Given the description of an element on the screen output the (x, y) to click on. 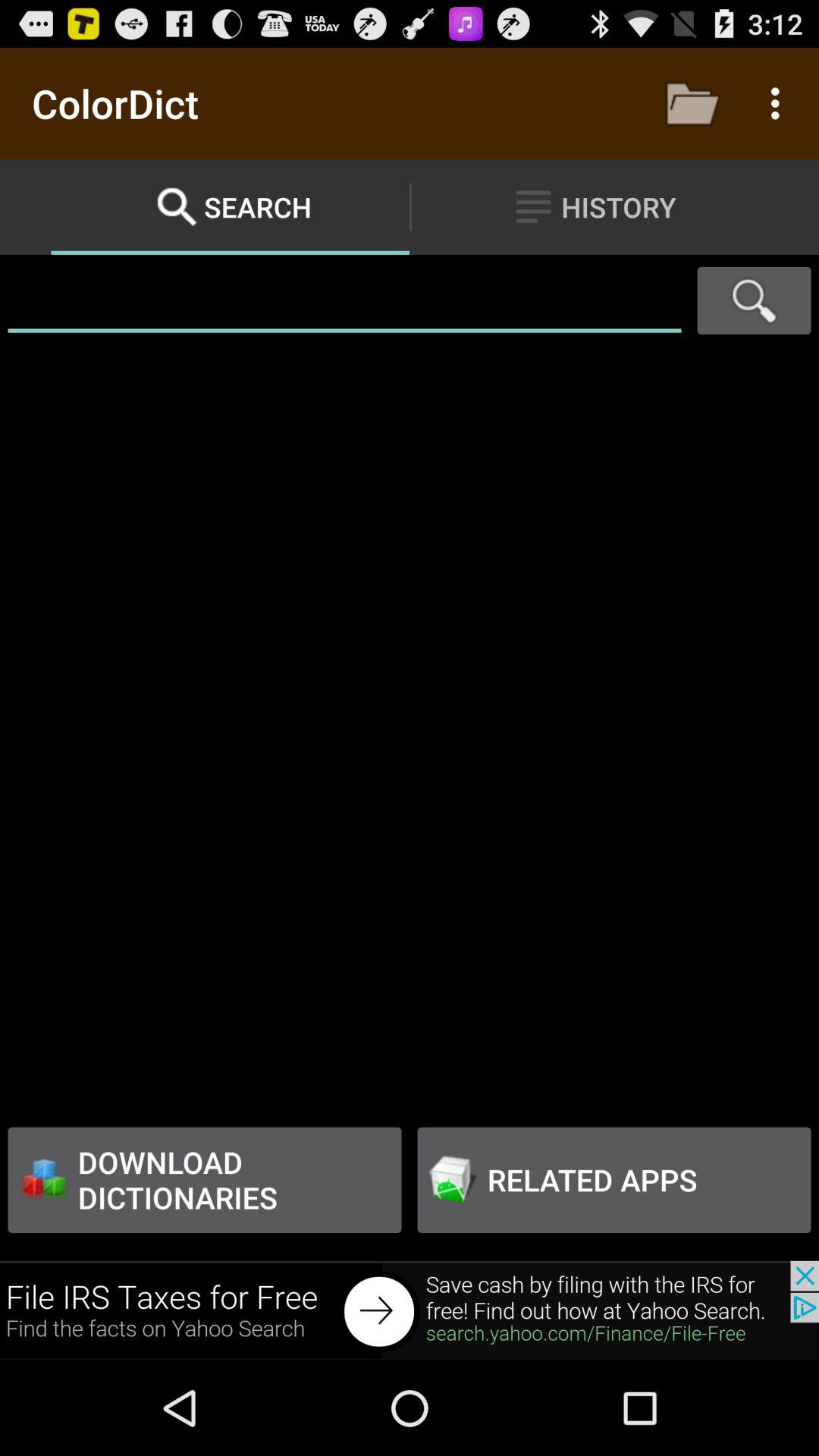
learn about this product (409, 1310)
